Given the description of an element on the screen output the (x, y) to click on. 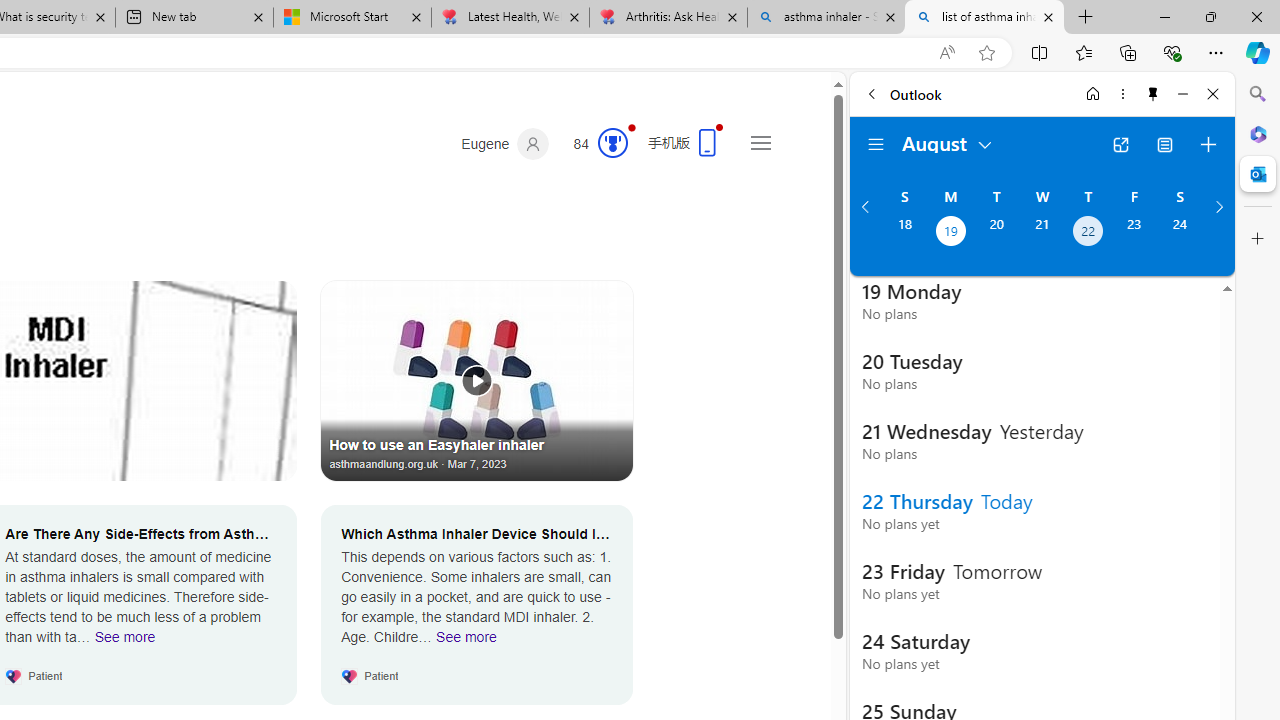
August (948, 141)
Monday, August 19, 2024. Date selected.  (950, 233)
AutomationID: serp_medal_svg (612, 142)
Open in new tab (1120, 144)
Microsoft Rewards 84 (594, 143)
Create event (1208, 144)
Sunday, August 18, 2024.  (904, 233)
